Given the description of an element on the screen output the (x, y) to click on. 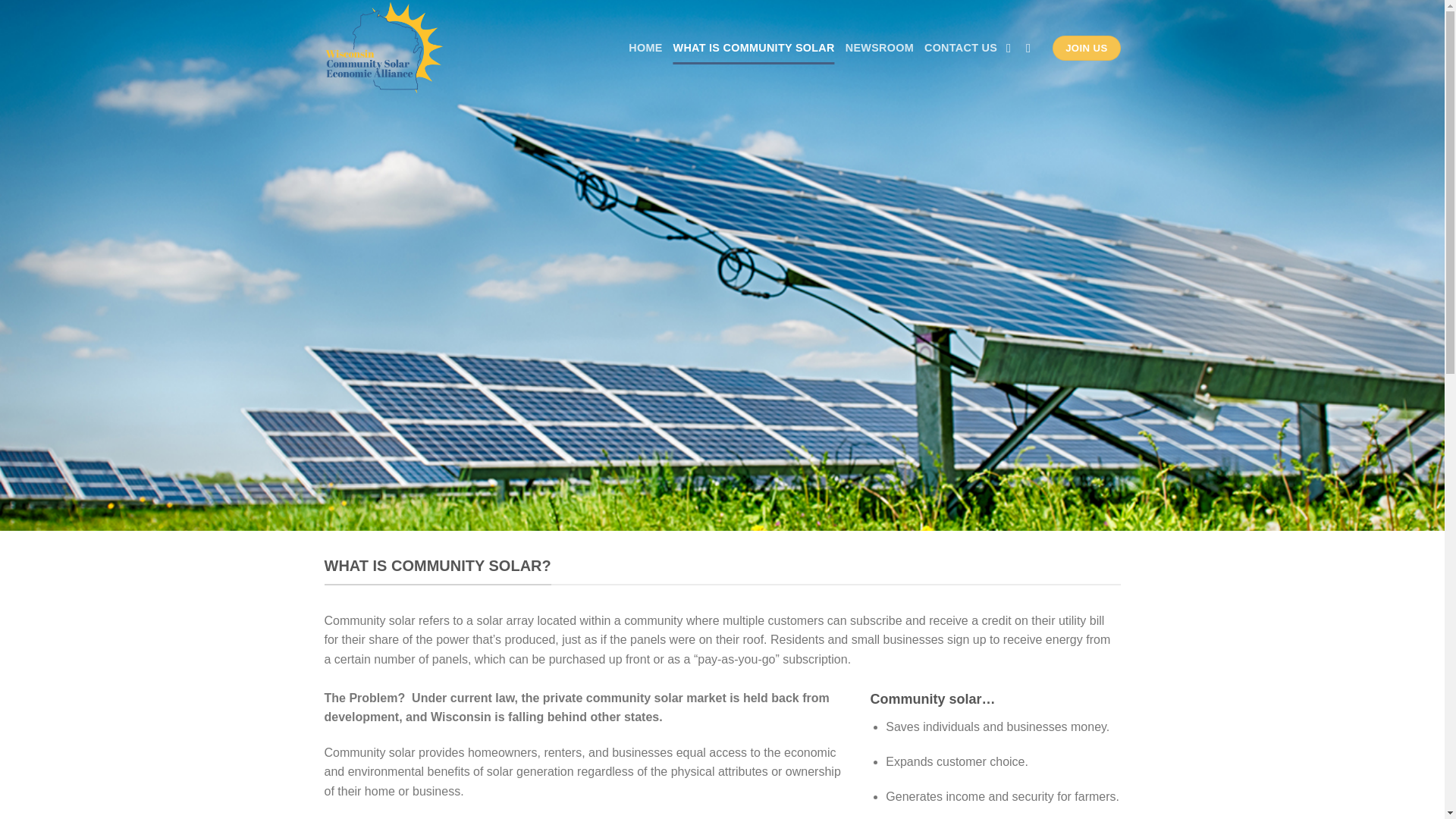
JOIN US (1085, 48)
NEWSROOM (879, 47)
CONTACT US (960, 47)
HOME (645, 47)
Wisconsin for Community Solar (424, 48)
WHAT IS COMMUNITY SOLAR (753, 47)
